Given the description of an element on the screen output the (x, y) to click on. 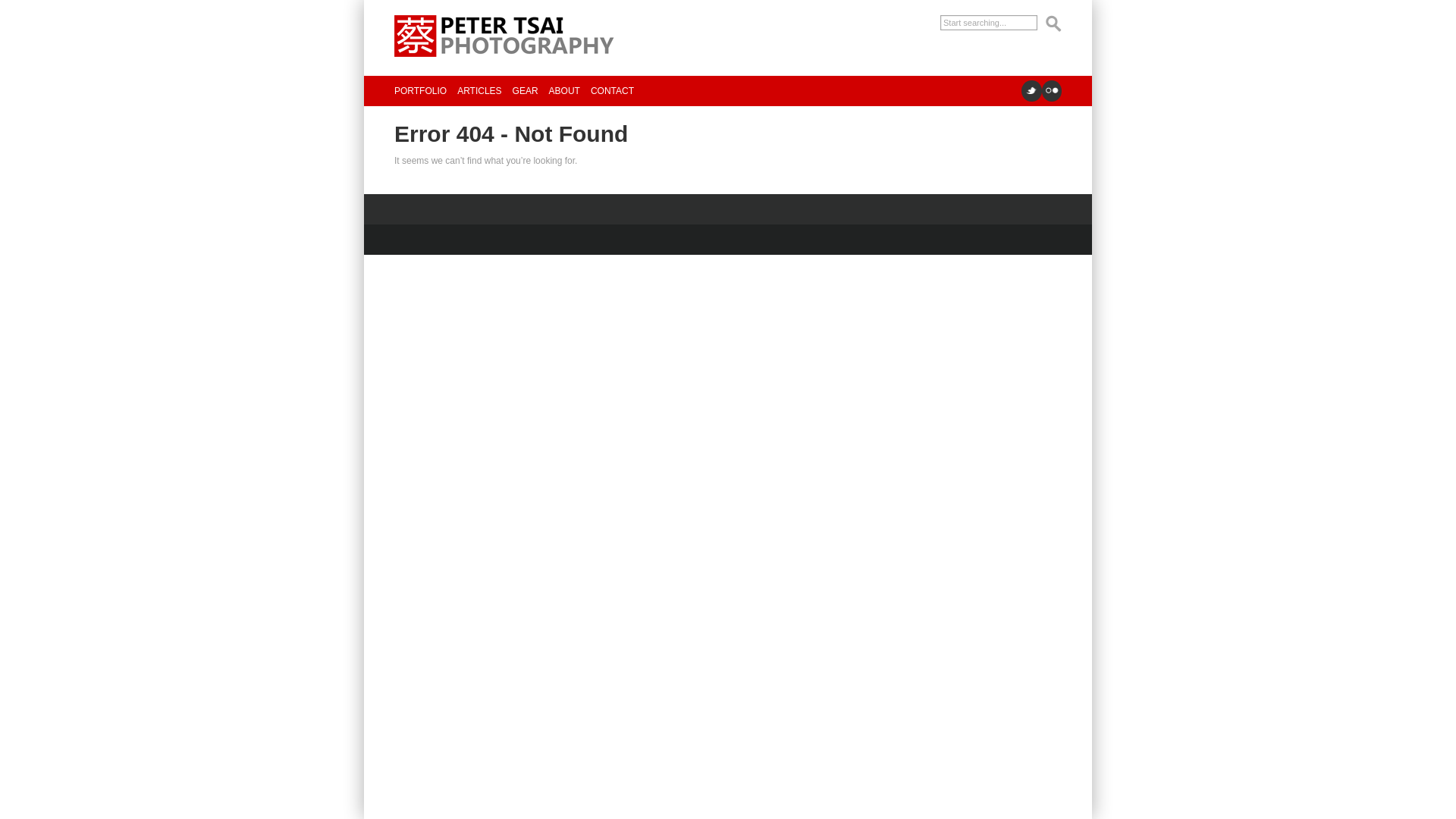
ARTICLES (478, 91)
ABOUT (563, 91)
PORTFOLIO (420, 91)
CONTACT (612, 91)
Start searching... (988, 22)
